Given the description of an element on the screen output the (x, y) to click on. 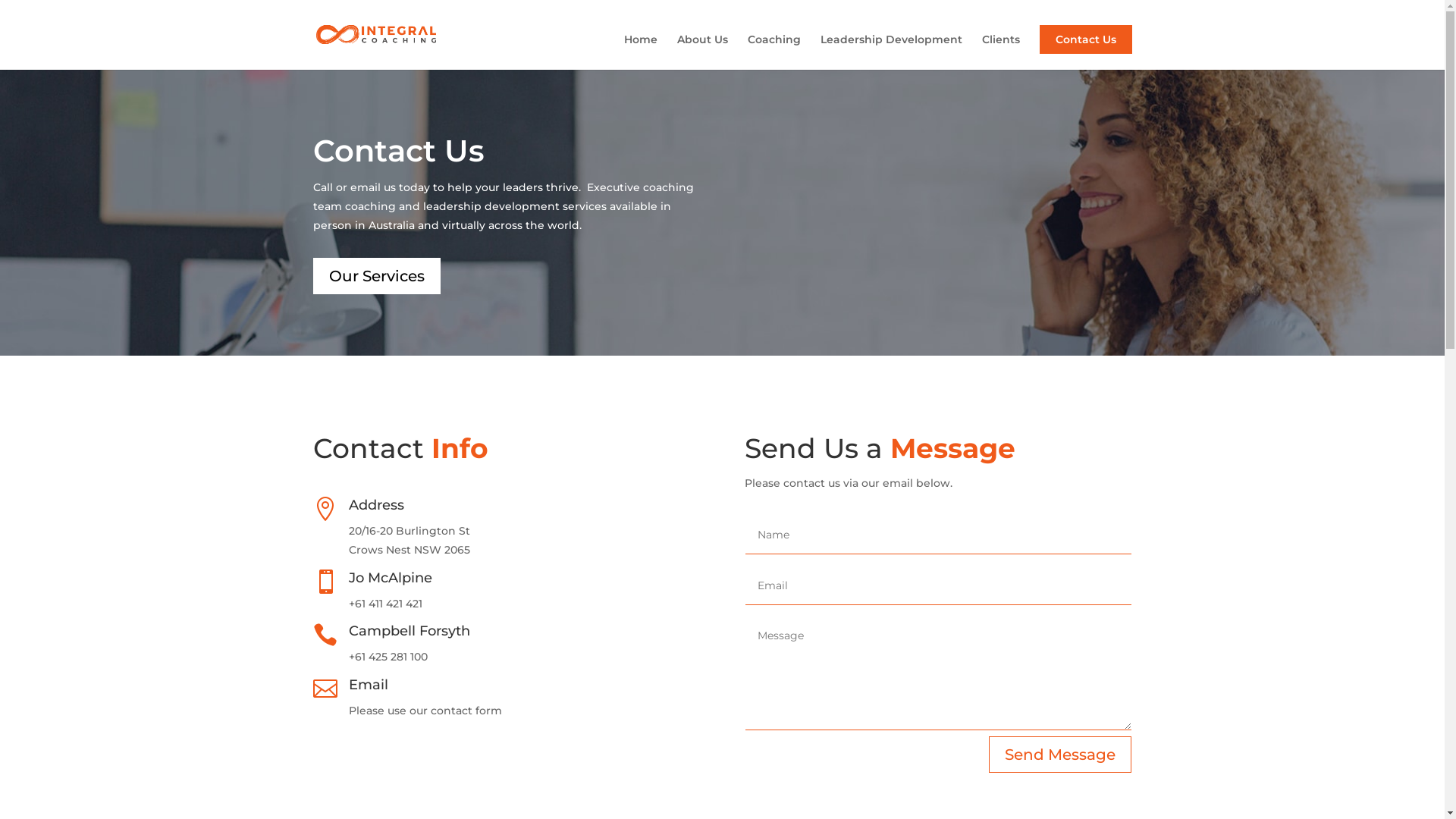
Clients Element type: text (1000, 51)
About Us Element type: text (701, 51)
Contact Us Element type: text (1084, 39)
Home Element type: text (639, 51)
Coaching Element type: text (773, 51)
Send Message Element type: text (1059, 754)
Leadership Development Element type: text (891, 51)
Our Services Element type: text (375, 275)
